Given the description of an element on the screen output the (x, y) to click on. 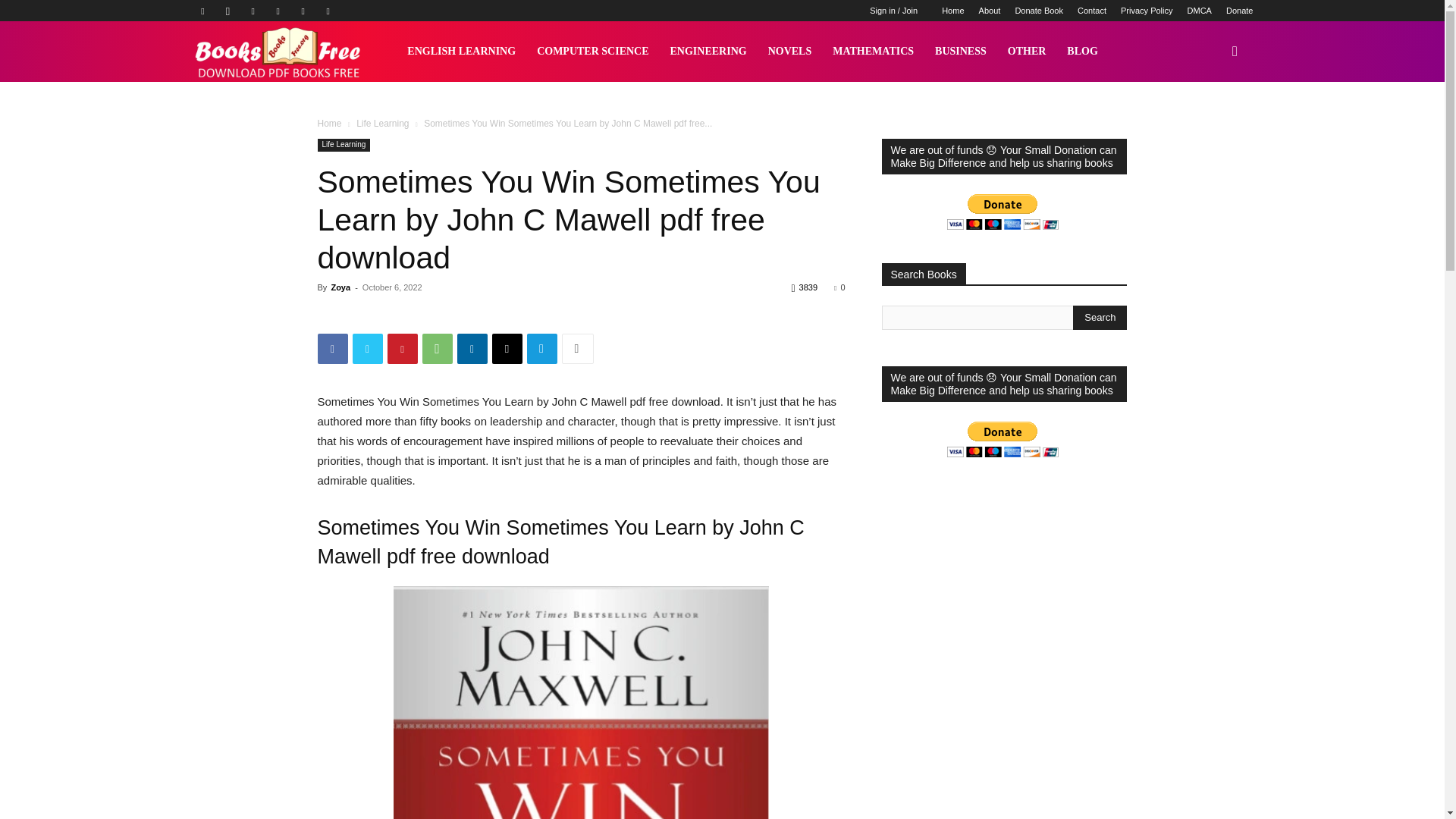
Youtube (328, 10)
Facebook (202, 10)
Search (1099, 317)
Pinterest (277, 10)
Paypal (252, 10)
Instagram (228, 10)
Twitter (303, 10)
